Given the description of an element on the screen output the (x, y) to click on. 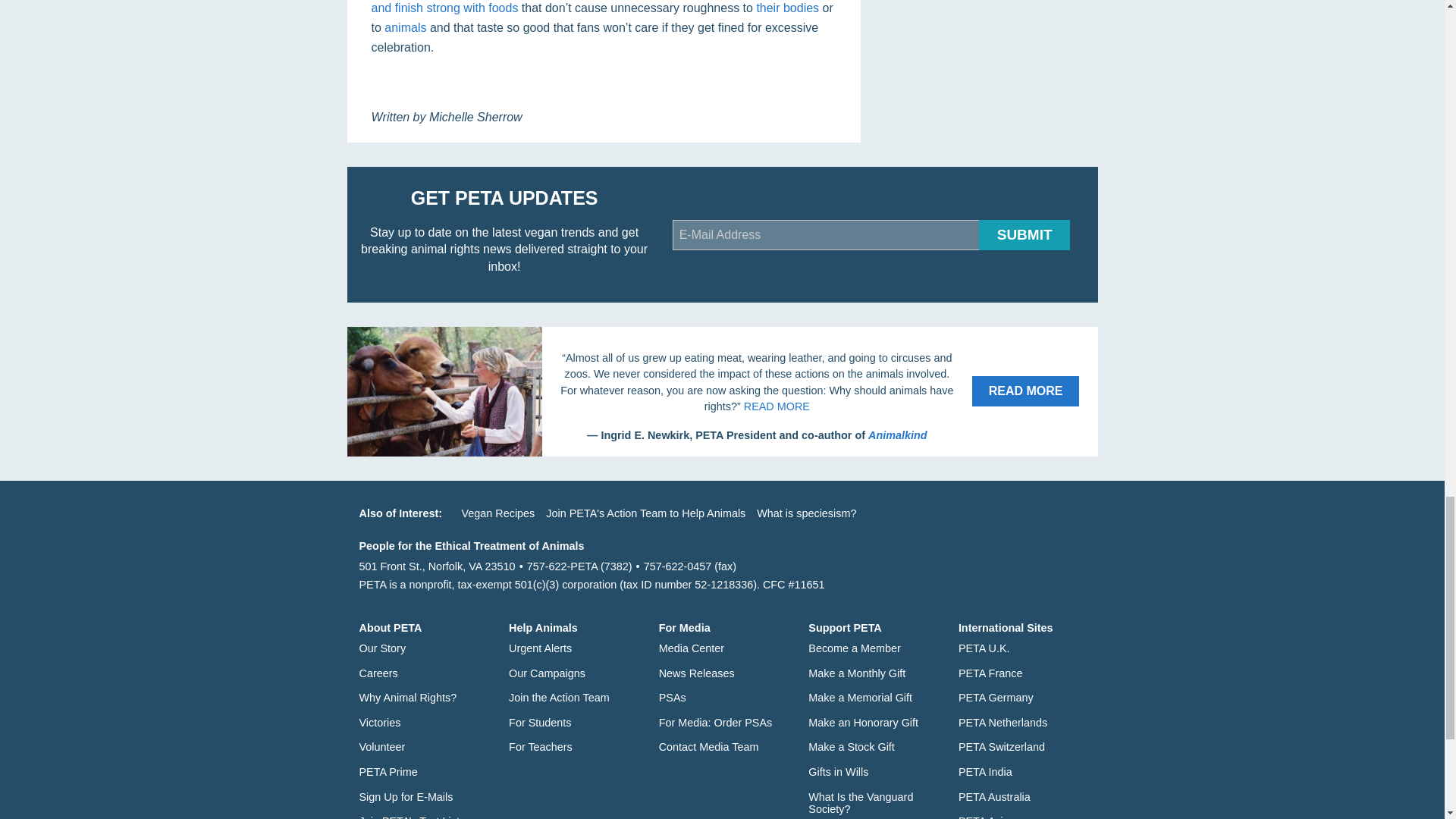
Submit (1024, 235)
